Given the description of an element on the screen output the (x, y) to click on. 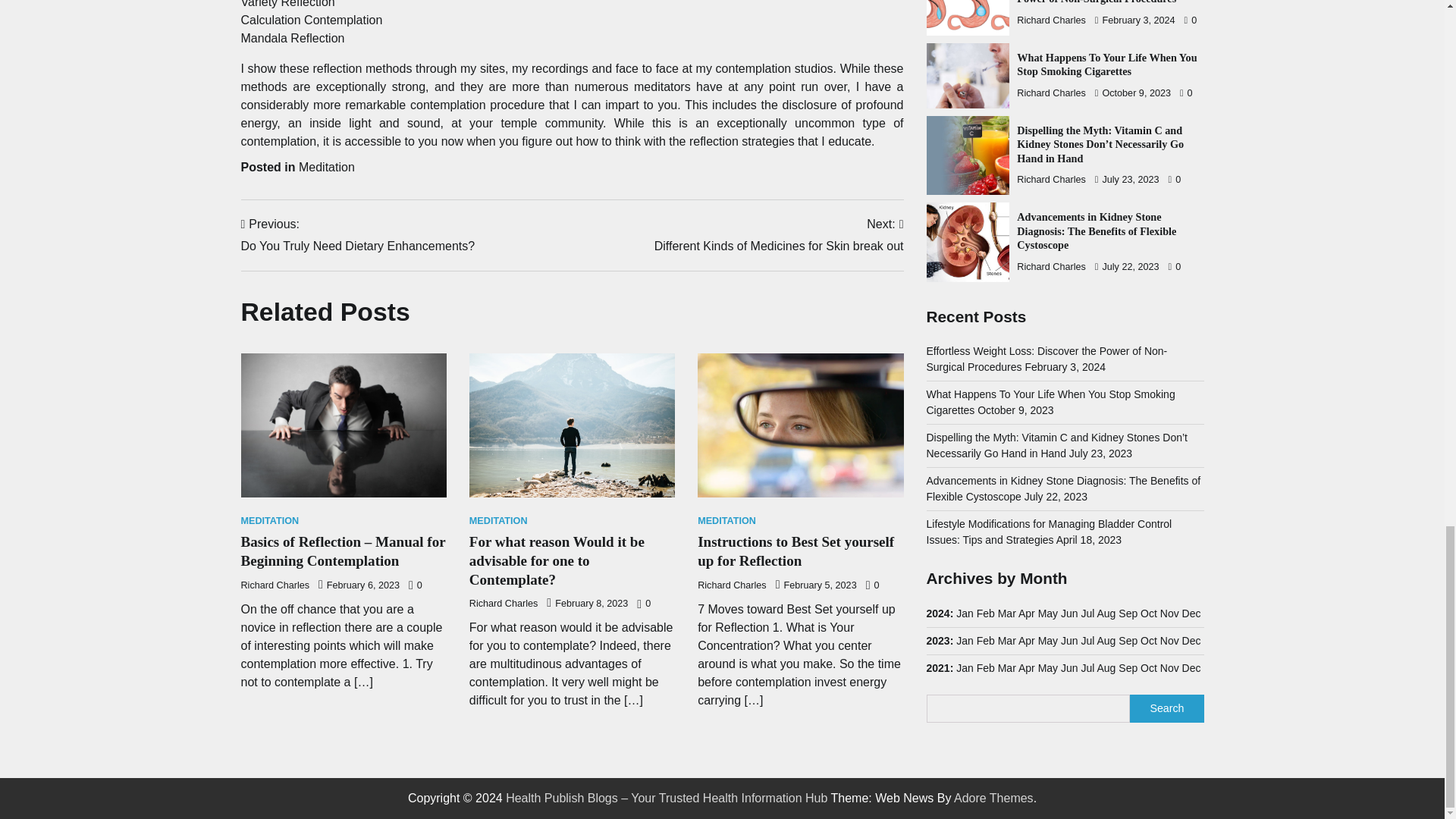
Richard Charles (503, 603)
MEDITATION (726, 521)
Meditation (326, 166)
Instructions to Best Set yourself up for Reflection (358, 235)
MEDITATION (795, 550)
Richard Charles (270, 521)
MEDITATION (778, 235)
Richard Charles (275, 584)
